Given the description of an element on the screen output the (x, y) to click on. 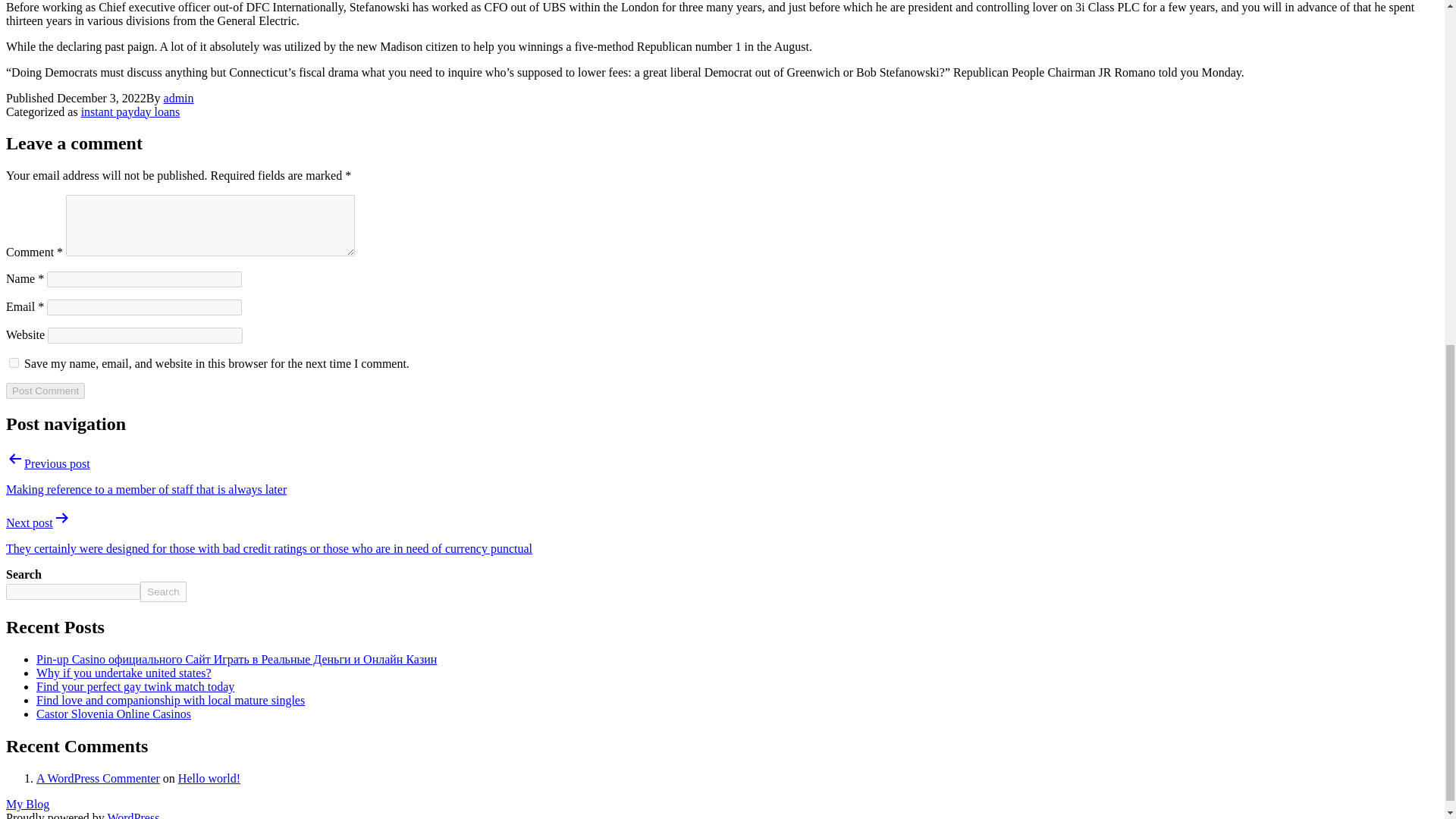
instant payday loans (130, 111)
yes (13, 362)
Post Comment (44, 390)
Find your perfect gay twink match today (135, 686)
Hello world! (208, 778)
Castor Slovenia Online Casinos (113, 713)
admin (178, 97)
A WordPress Commenter (98, 778)
Post Comment (44, 390)
Search (162, 591)
